Given the description of an element on the screen output the (x, y) to click on. 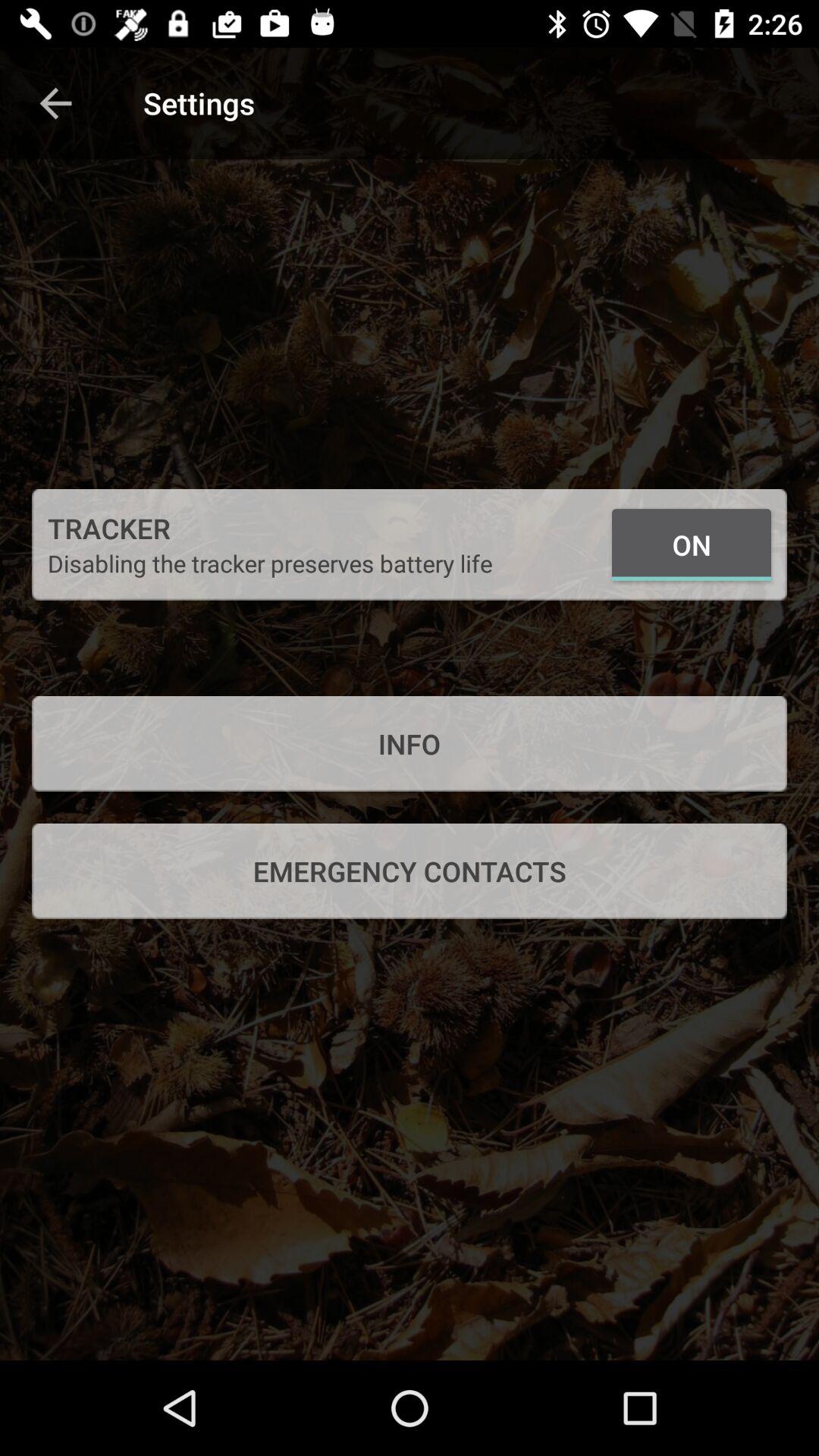
turn off on icon (691, 544)
